Given the description of an element on the screen output the (x, y) to click on. 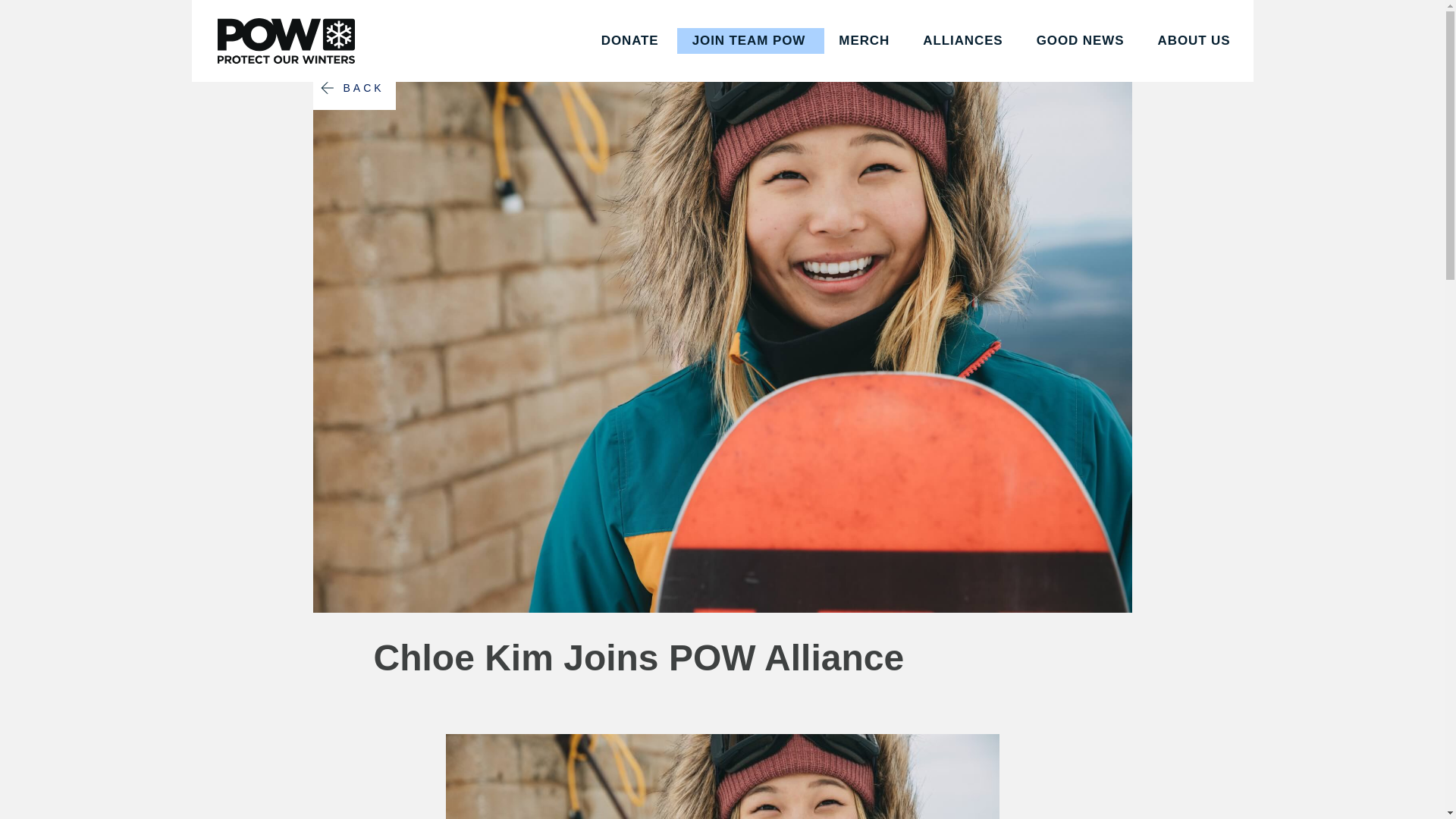
ABOUT US (1193, 58)
MERCH (863, 58)
JOIN TEAM POW (749, 58)
GOOD NEWS (1080, 58)
DONATE (630, 58)
ALLIANCES (963, 58)
